Given the description of an element on the screen output the (x, y) to click on. 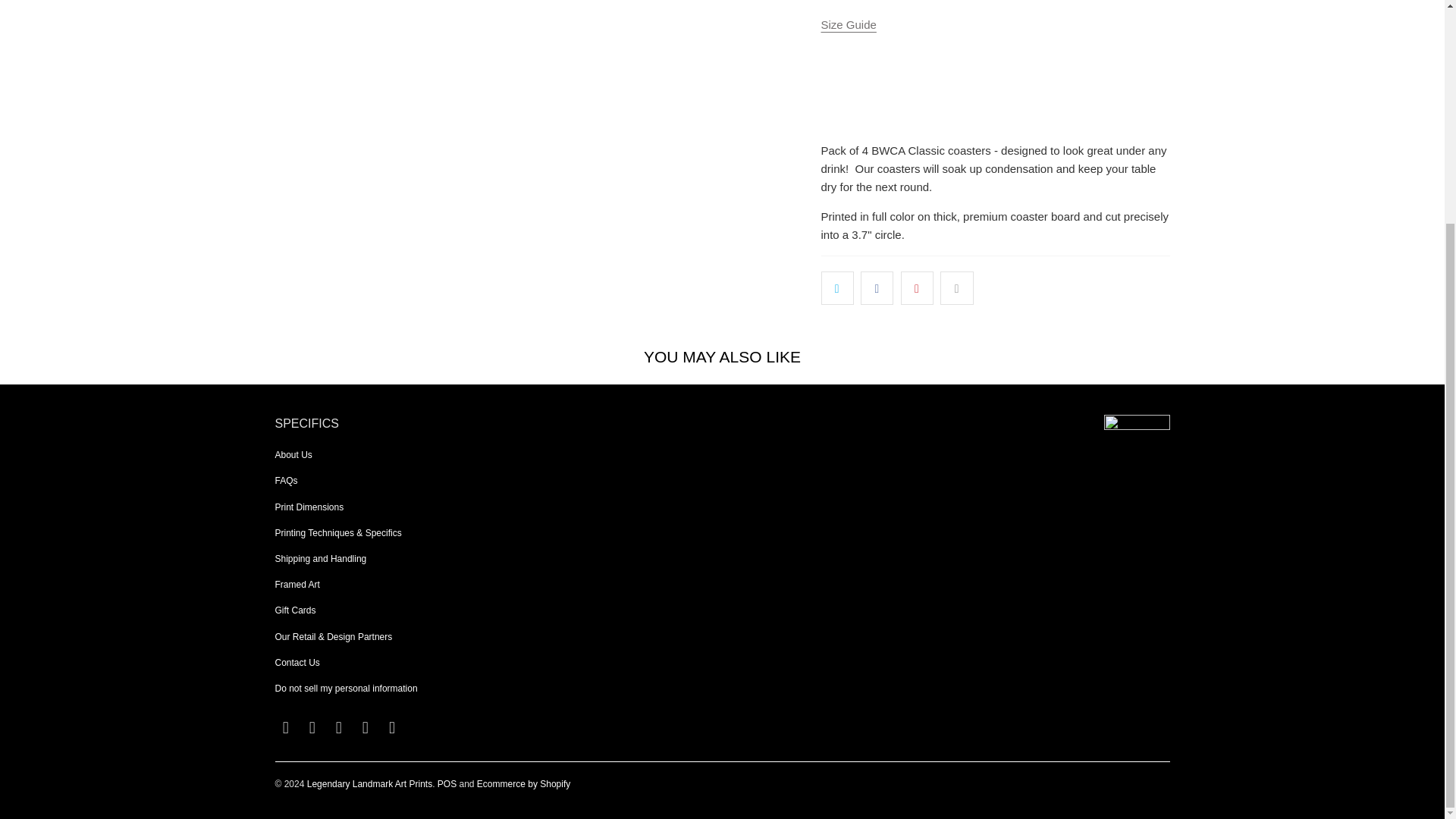
Share this on Twitter (837, 287)
Share this on Facebook (876, 287)
Legendary Landmark Art Prints on Twitter (366, 728)
Legendary Landmark Art Prints on YouTube (392, 728)
Legendary Landmark Art Prints on Facebook (286, 728)
Email this to a friend (956, 287)
Share this on Pinterest (917, 287)
Legendary Landmark Art Prints on Pinterest (339, 728)
Legendary Landmark Art Prints on Instagram (312, 728)
